Given the description of an element on the screen output the (x, y) to click on. 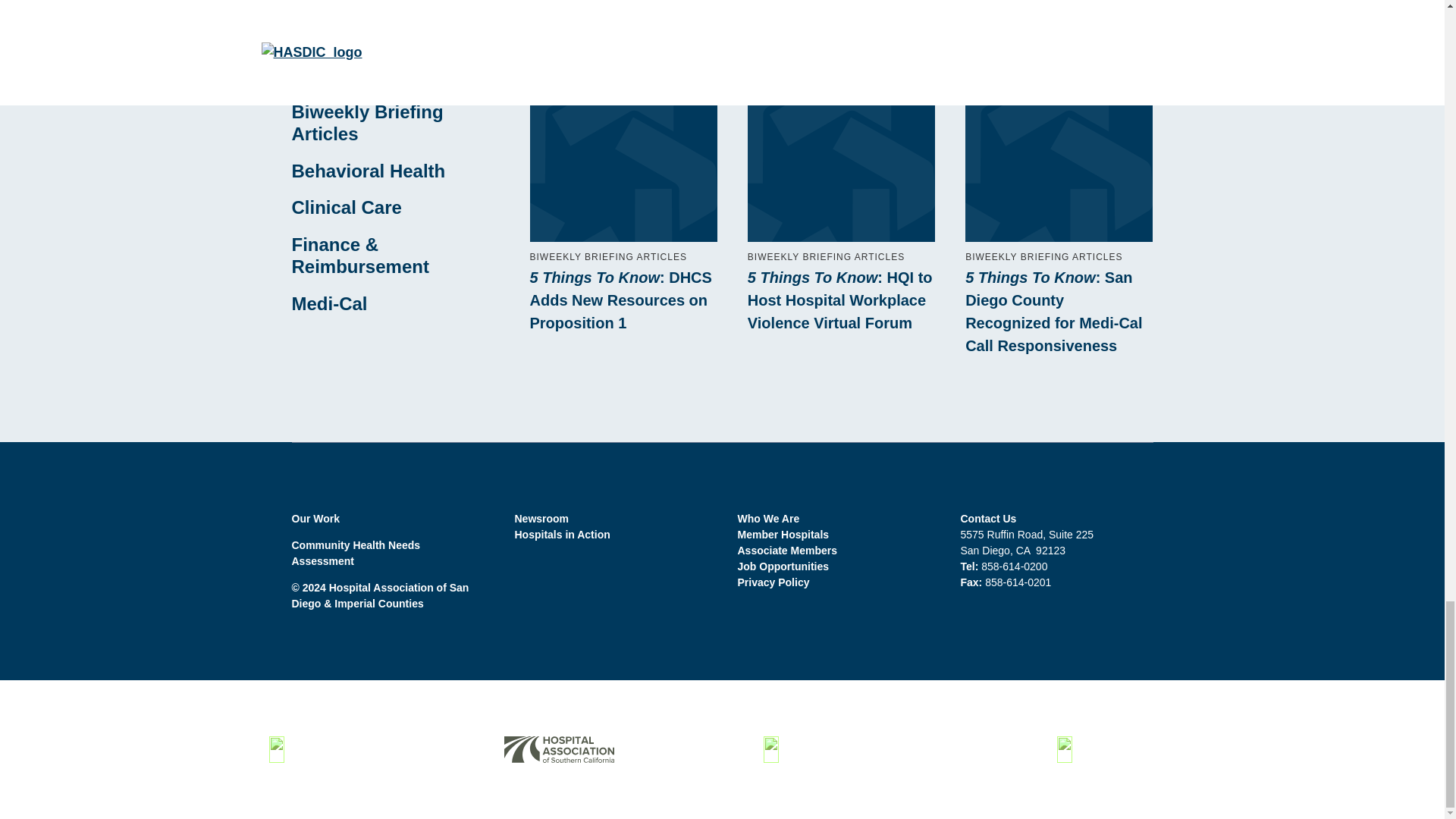
Biweekly Briefing Articles (366, 122)
Clinical Care (346, 207)
5 Things To Know: DHCS Adds New Resources on Proposition 1 (622, 300)
Medi-Cal (328, 303)
Behavioral Health (368, 170)
